Given the description of an element on the screen output the (x, y) to click on. 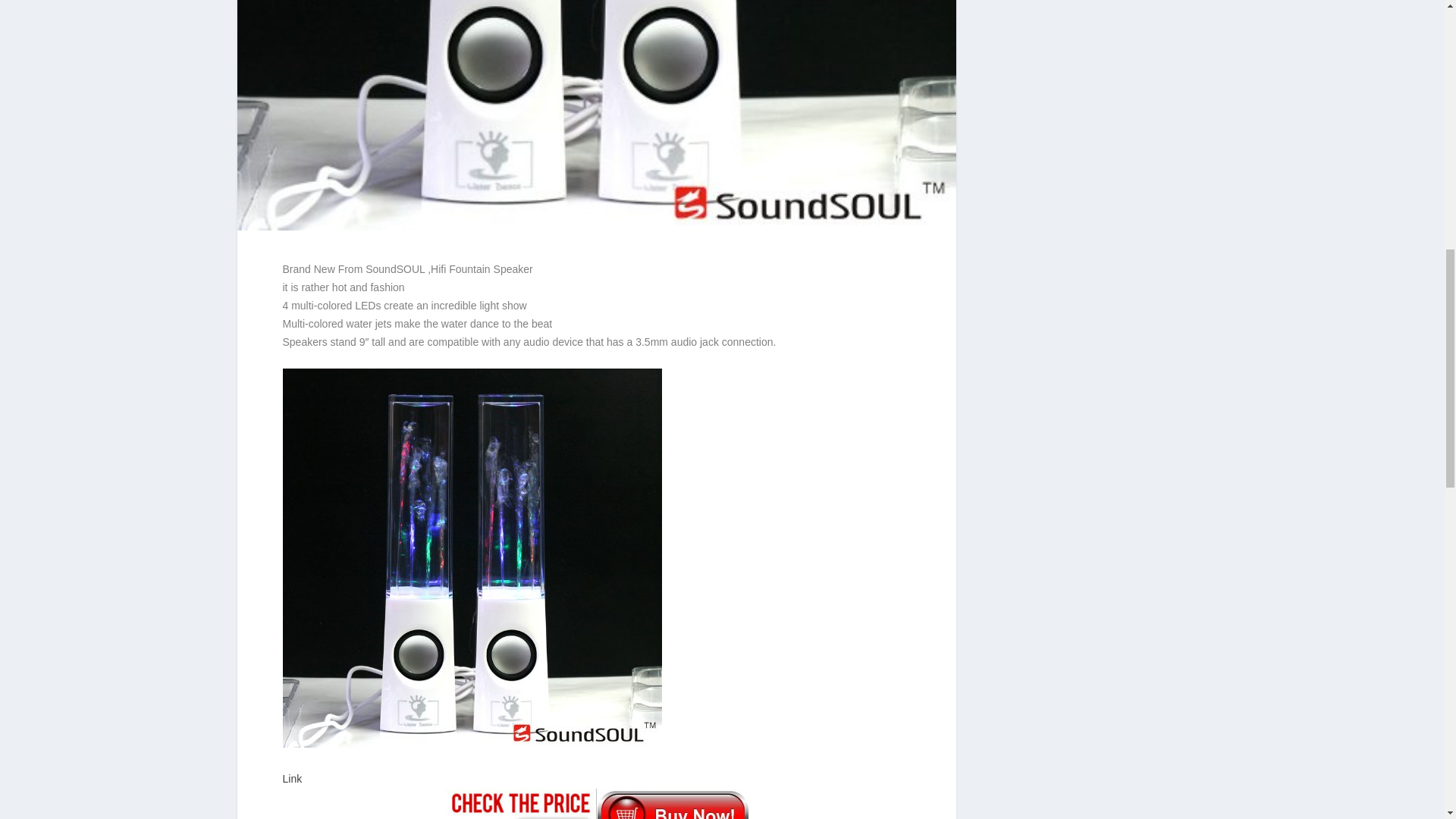
Link (596, 794)
Buy now! (596, 803)
